Given the description of an element on the screen output the (x, y) to click on. 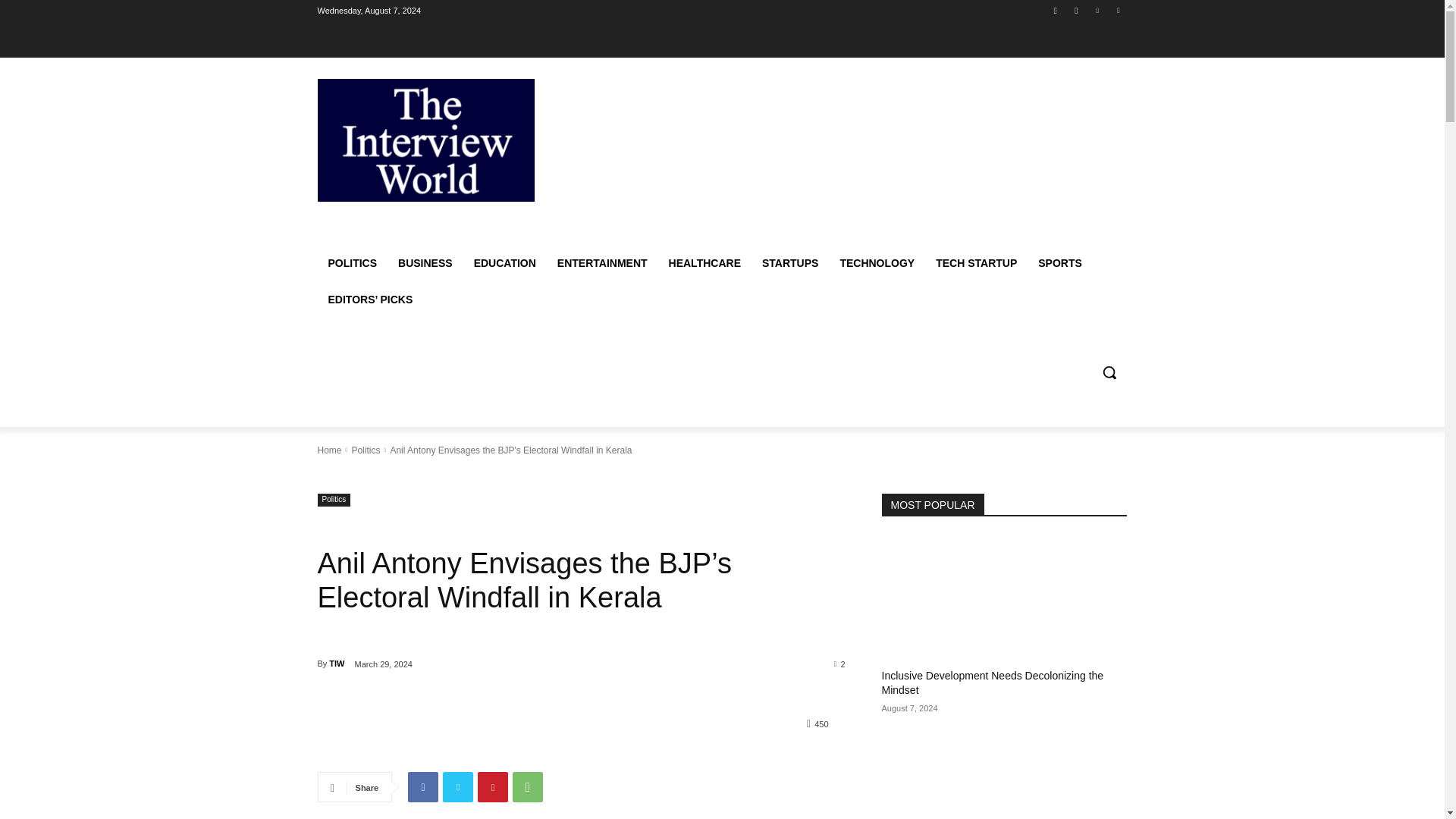
EDUCATION (505, 262)
TECH STARTUP (975, 262)
HEALTHCARE (704, 262)
View all posts in Politics (365, 450)
Politics (333, 499)
SPORTS (1060, 262)
Facebook (1055, 9)
Politics (365, 450)
Instagram (1075, 9)
Linkedin (1097, 9)
STARTUPS (789, 262)
2 (839, 663)
TECHNOLOGY (876, 262)
Twitter (457, 787)
BUSINESS (425, 262)
